Given the description of an element on the screen output the (x, y) to click on. 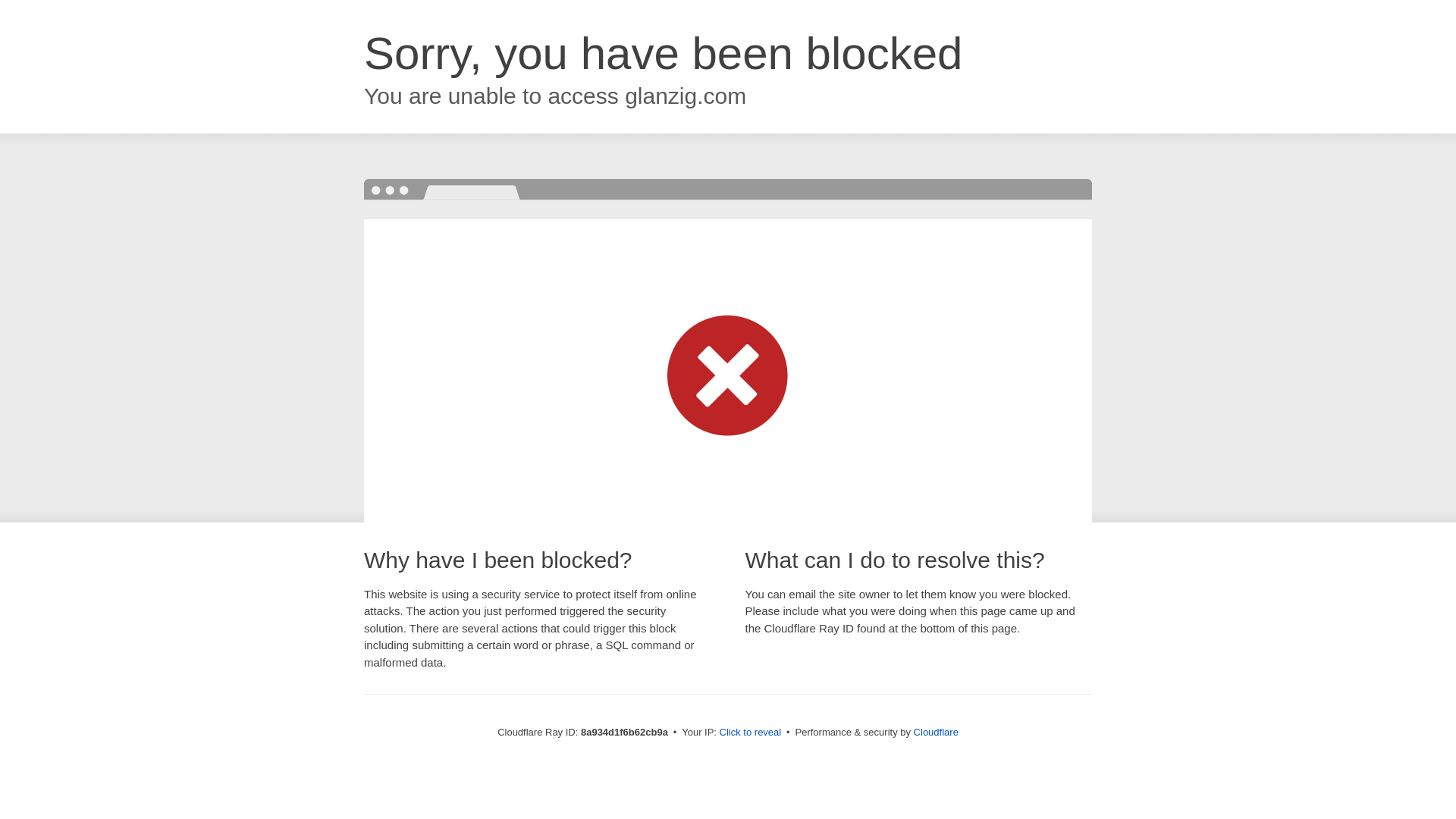
Cloudflare (936, 731)
Click to reveal (750, 732)
